Given the description of an element on the screen output the (x, y) to click on. 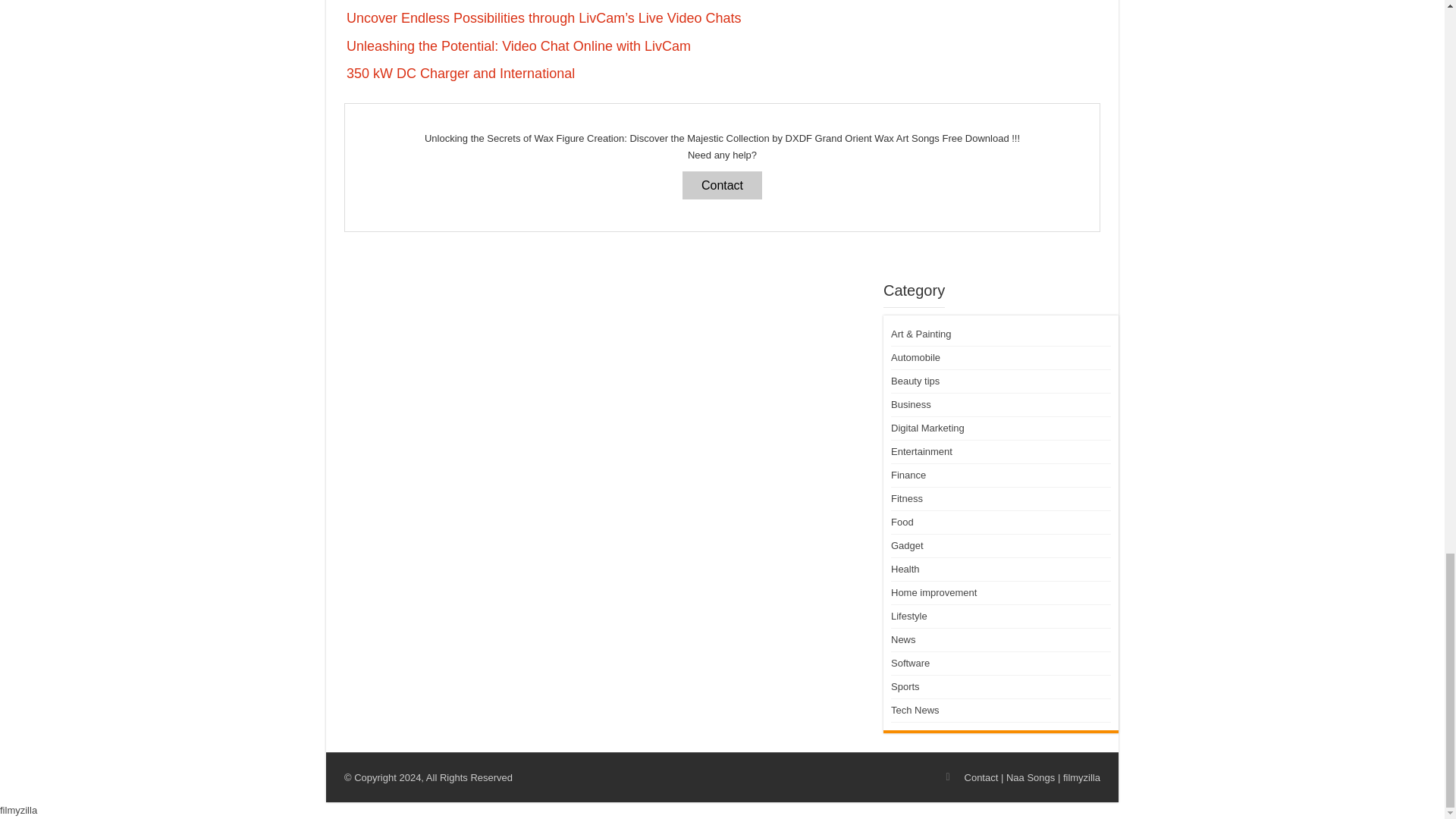
350 kW DC Charger and International (460, 73)
Contact (721, 185)
Unleashing the Potential: Video Chat Online with LivCam (518, 46)
Unleashing the Potential: Video Chat Online with LivCam (518, 46)
